Given the description of an element on the screen output the (x, y) to click on. 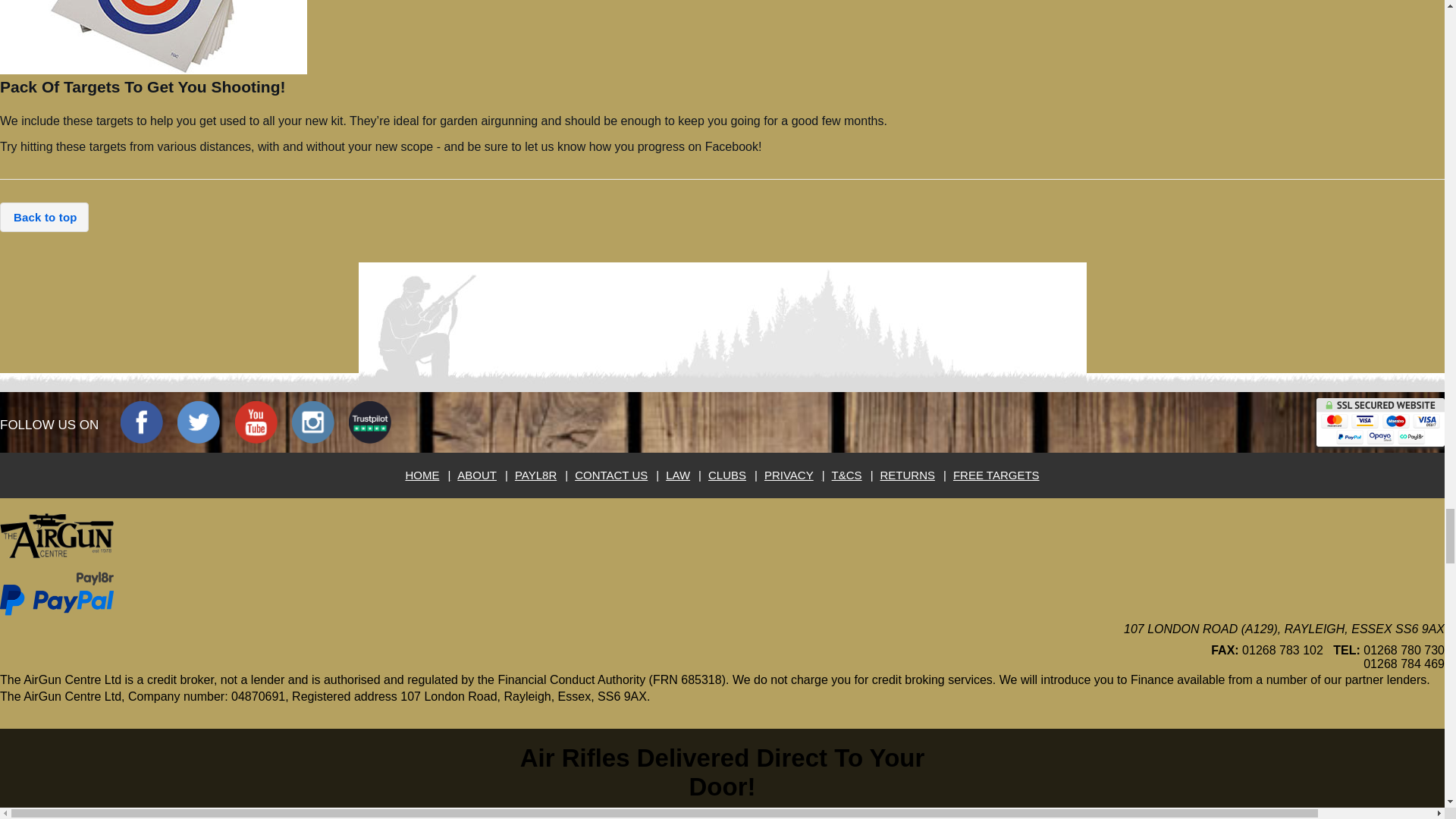
The Airgun Centre reviews on Trustpilot (370, 422)
Back to top (44, 216)
